Given the description of an element on the screen output the (x, y) to click on. 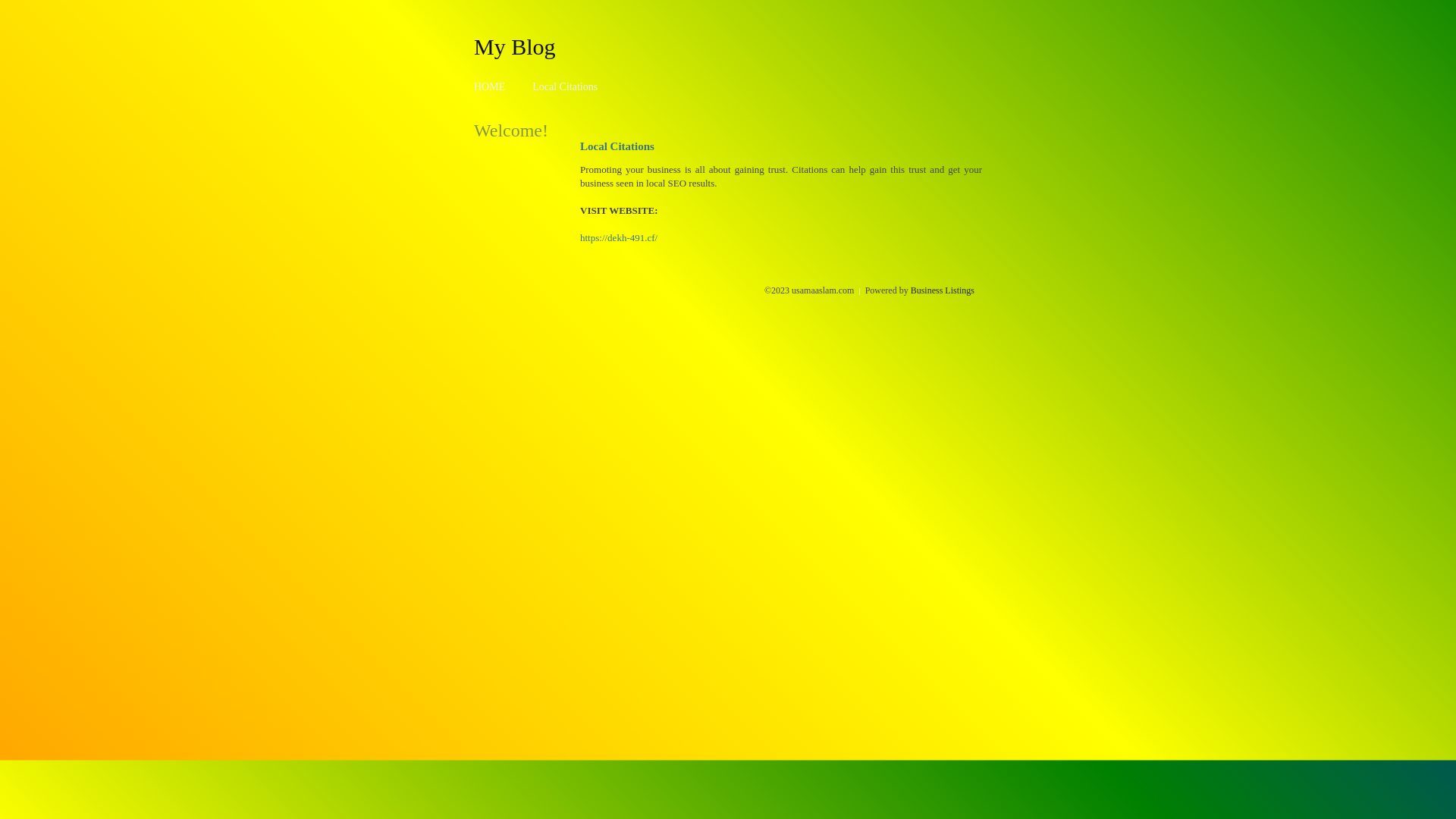
HOME Element type: text (489, 86)
Local Citations Element type: text (564, 86)
My Blog Element type: text (514, 46)
Business Listings Element type: text (942, 290)
https://dekh-491.cf/ Element type: text (618, 237)
